Given the description of an element on the screen output the (x, y) to click on. 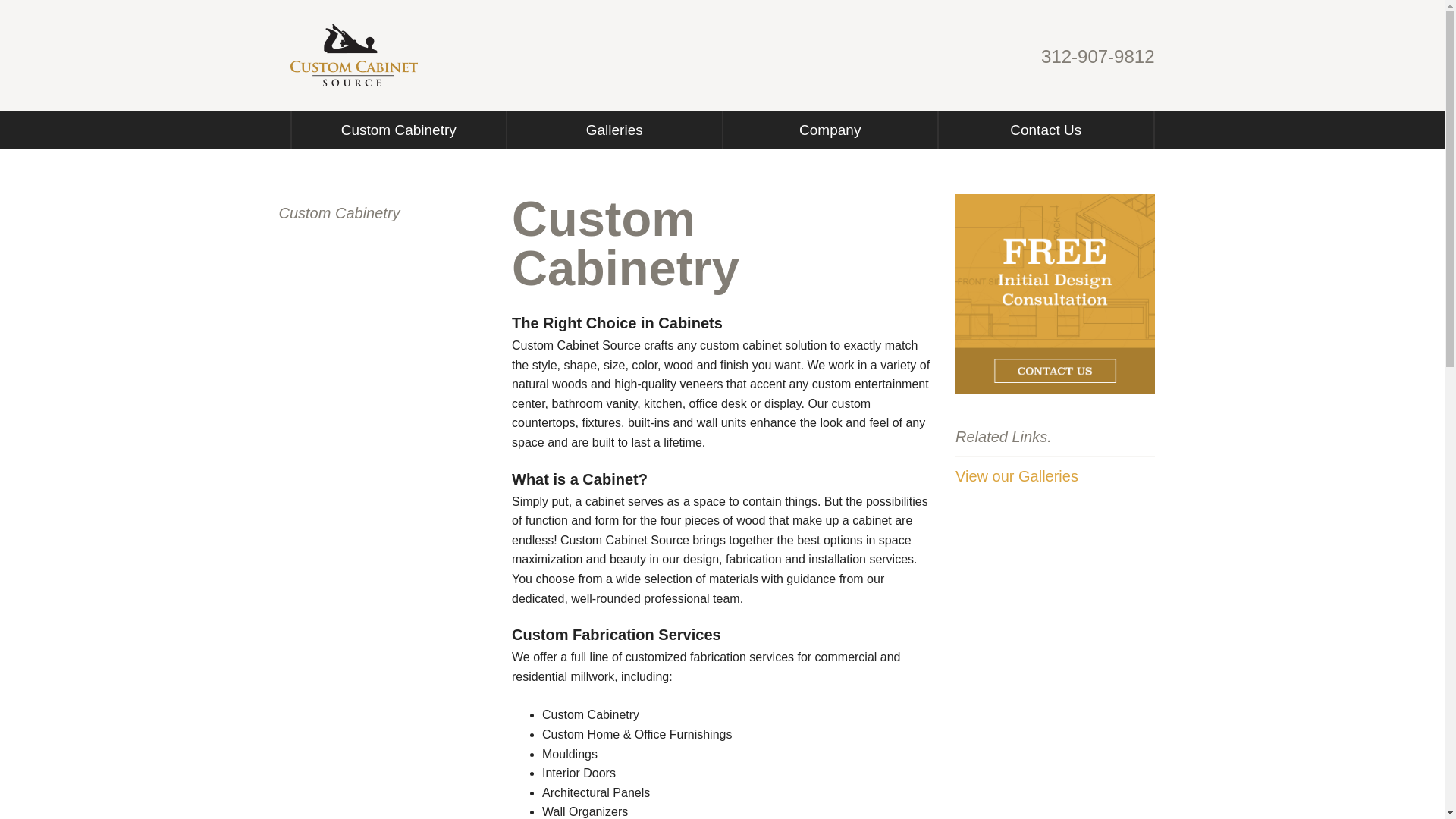
Company (830, 129)
Custom Cabinetry (389, 212)
View our Galleries (1016, 475)
Galleries (614, 129)
Contact Us (1046, 129)
Custom Cabinetry (398, 129)
